Given the description of an element on the screen output the (x, y) to click on. 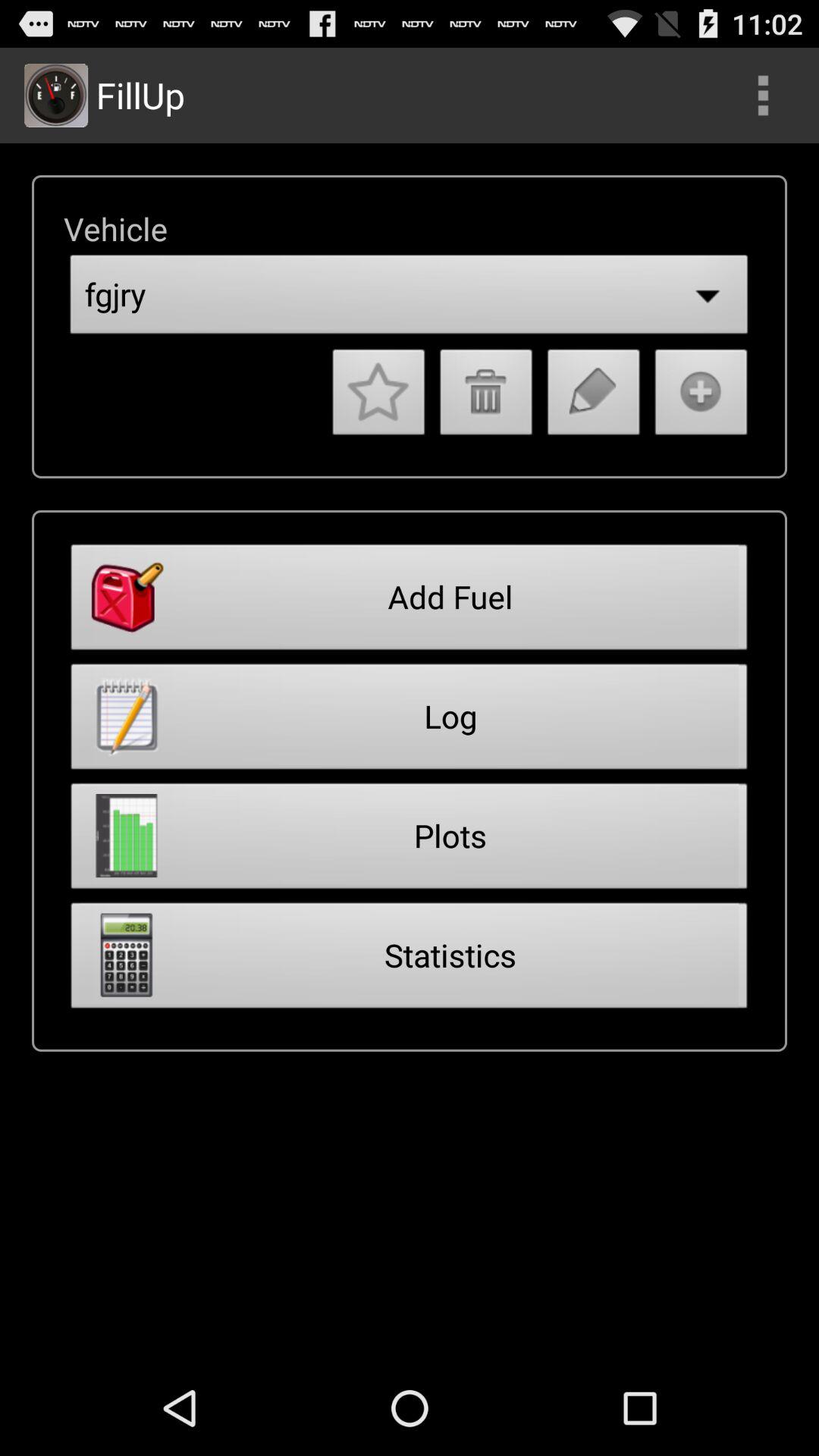
more features (763, 95)
